Given the description of an element on the screen output the (x, y) to click on. 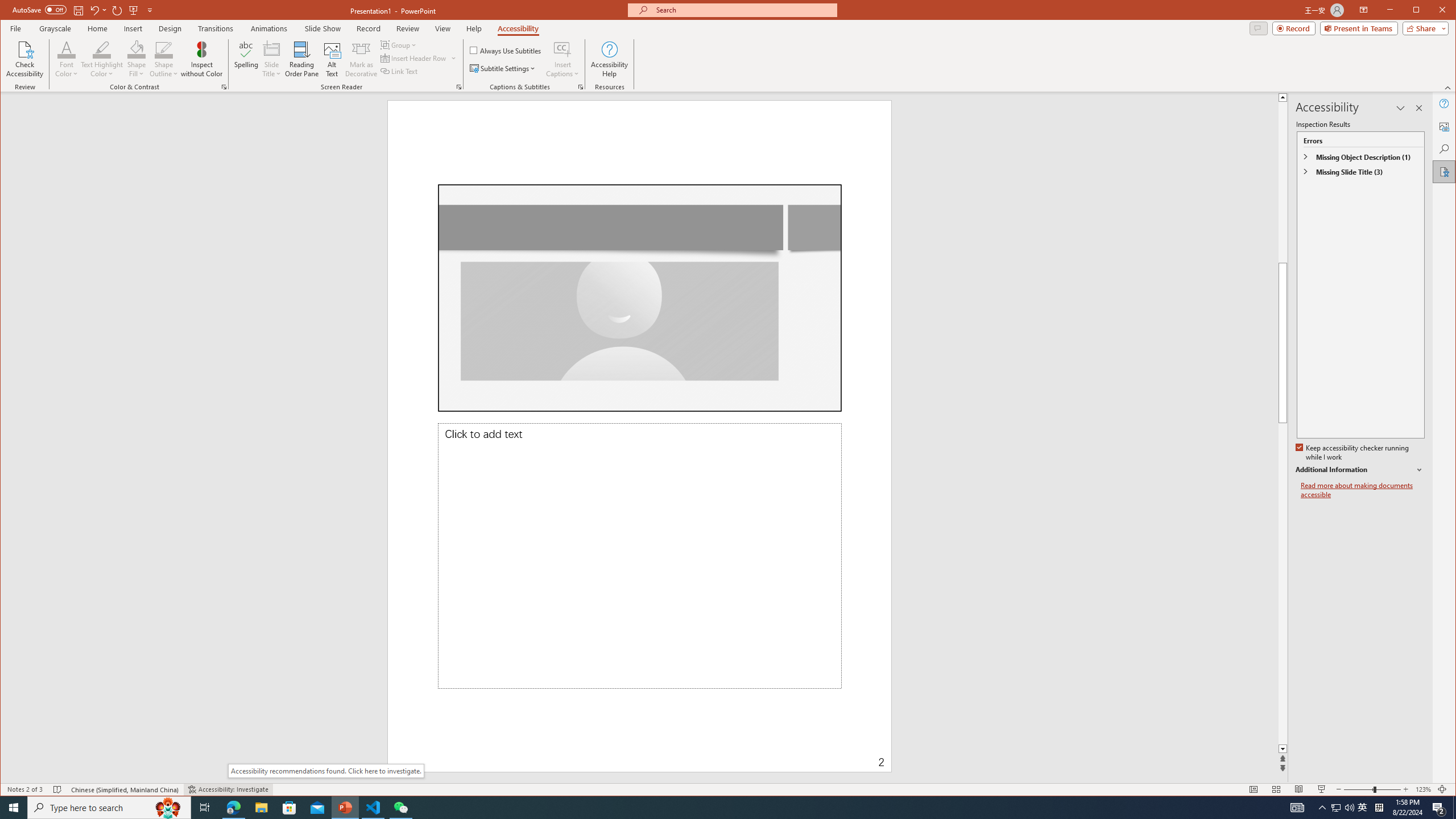
Inspect without Color (201, 59)
Slide Title (271, 59)
Zoom 123% (1422, 789)
Group (399, 44)
